Given the description of an element on the screen output the (x, y) to click on. 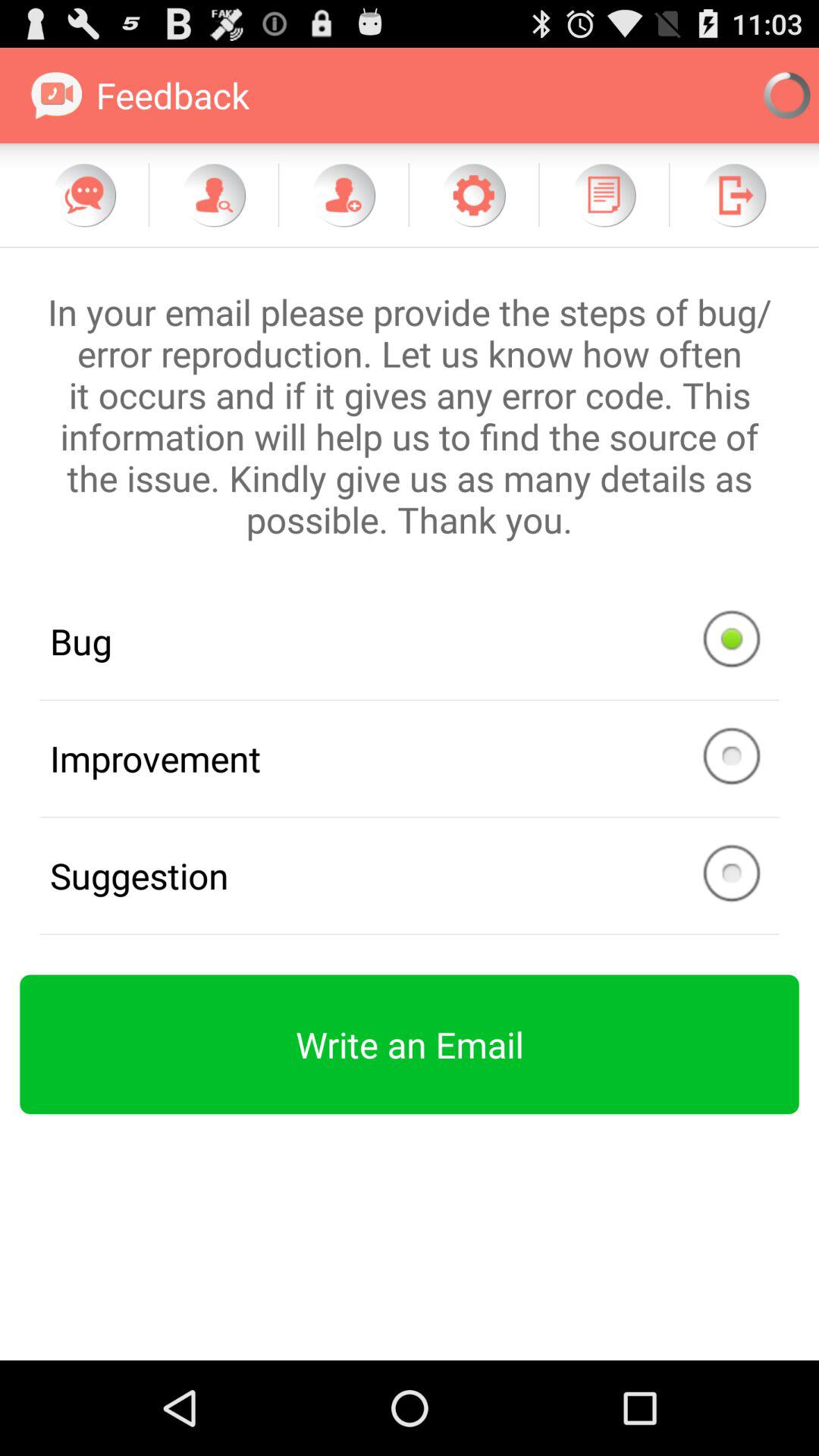
leave page (734, 194)
